Given the description of an element on the screen output the (x, y) to click on. 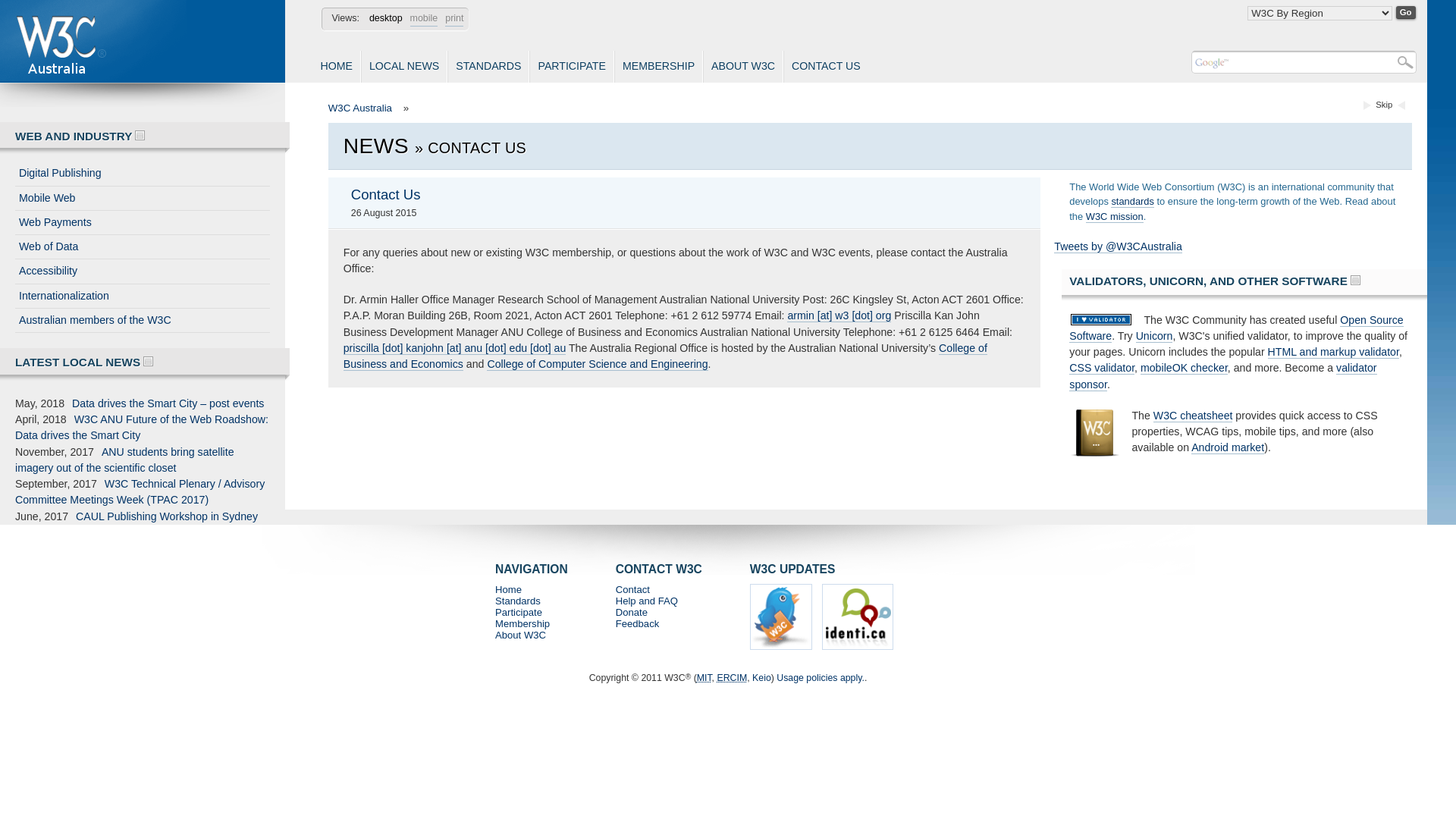
CAUL Publishing Workshop in Sydney Element type: text (166, 516)
Skip Element type: text (1383, 104)
Open Source Software Element type: text (1235, 327)
ERCIM Element type: text (731, 677)
Membership Element type: text (522, 623)
Digital Publishing Element type: text (142, 173)
Help and FAQ Element type: text (646, 600)
STANDARDS Element type: text (488, 66)
MIT Element type: text (704, 677)
VALIDATORS, UNICORN, AND OTHER SOFTWARE Element type: text (1214, 280)
Standards Element type: text (517, 600)
Tweets by @W3CAustralia Element type: text (1118, 246)
Accessibility Element type: text (142, 270)
Search Element type: hover (1271, 62)
standards Element type: text (1132, 201)
print Element type: text (454, 19)
Web Payments Element type: text (142, 222)
Web of Data Element type: text (142, 246)
College of Computer Science and Engineering Element type: text (596, 363)
MEMBERSHIP Element type: text (658, 66)
CONTACT US Element type: text (825, 66)
Usage policies apply. Element type: text (820, 677)
Australian members of the W3C Element type: text (142, 320)
desktop Element type: text (385, 18)
ABOUT W3C Element type: text (742, 66)
priscilla [dot] kanjohn [at] anu [dot] edu [dot] au Element type: text (454, 348)
Donate Element type: text (631, 612)
Feedback Element type: text (637, 623)
Internationalization Element type: text (142, 295)
armin [at] w3 [dot] org Element type: text (839, 315)
W3C Australia Element type: text (360, 107)
validator sponsor Element type: text (1222, 375)
Keio Element type: text (761, 677)
mobileOK checker Element type: text (1183, 367)
Android market Element type: text (1227, 447)
LOCAL NEWS Element type: text (403, 66)
Participate Element type: text (518, 612)
About W3C Element type: text (520, 634)
College of Business and Economics Element type: text (665, 356)
CSS validator Element type: text (1101, 367)
W3C cheatsheet Element type: text (1193, 415)
HOME Element type: text (336, 66)
Mobile Web Element type: text (142, 198)
mobile Element type: text (424, 19)
Unicorn Element type: text (1154, 335)
Contact Us Element type: text (385, 194)
W3C mission Element type: text (1114, 216)
Contact Element type: text (632, 589)
LATEST LOCAL NEWS Element type: text (84, 361)
WEB AND INDUSTRY Element type: text (79, 135)
HTML and markup validator Element type: text (1333, 351)
Home Element type: text (508, 589)
PARTICIPATE Element type: text (571, 66)
Go Element type: text (1405, 12)
